Given the description of an element on the screen output the (x, y) to click on. 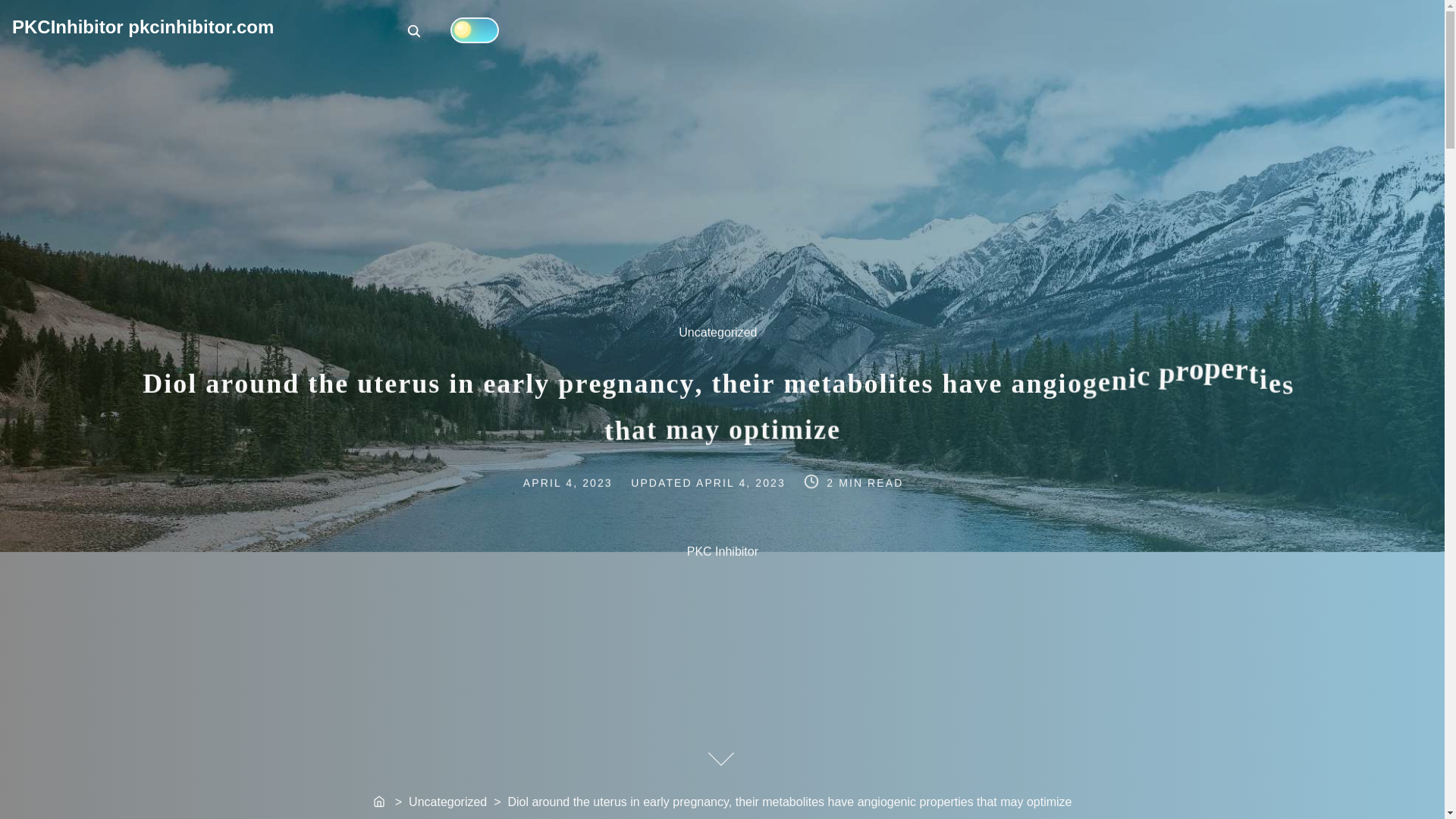
Search (415, 31)
PKCInhibitor pkcinhibitor.com (414, 30)
Home (142, 26)
APRIL 4, 2023 (380, 802)
APRIL 4, 2023 (742, 480)
Uncategorized (580, 480)
